Given the description of an element on the screen output the (x, y) to click on. 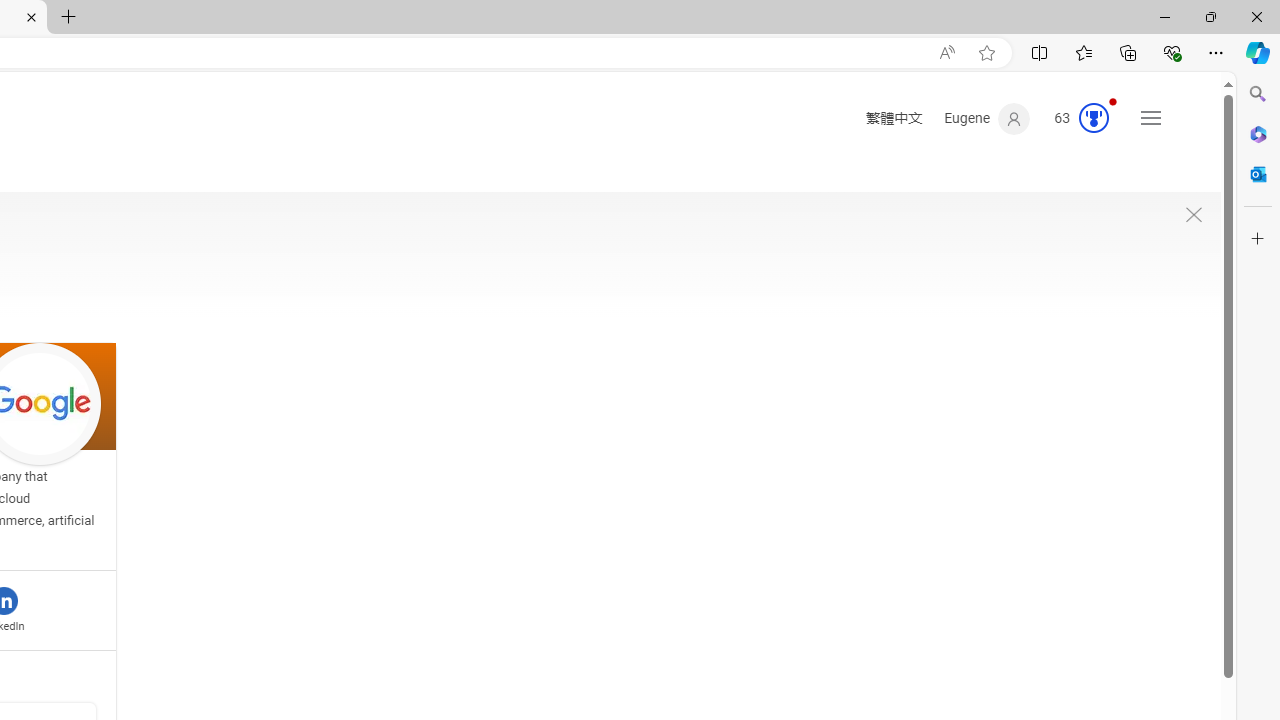
Eugene (987, 119)
Animation (1112, 101)
AutomationID: serp_medal_svg (1093, 117)
AutomationID: rh_meter (1093, 117)
